Given the description of an element on the screen output the (x, y) to click on. 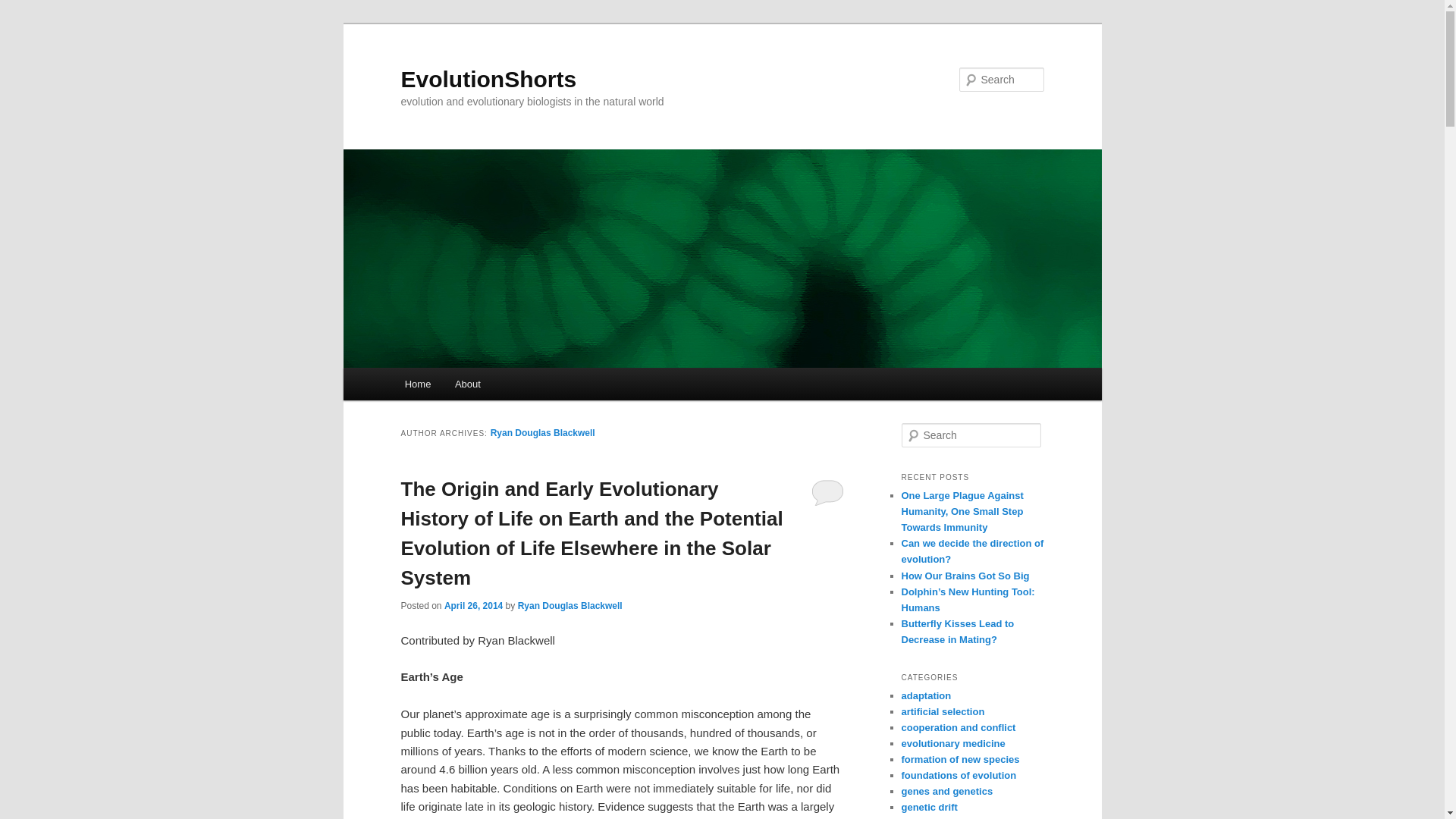
genetic drift (928, 807)
Ryan Douglas Blackwell (542, 432)
EvolutionShorts (488, 78)
genomics (924, 818)
April 26, 2014 (473, 605)
View all posts by Ryan Douglas Blackwell (570, 605)
Ryan Douglas Blackwell (570, 605)
adaptation (925, 695)
artificial selection (942, 711)
2:11 am (473, 605)
